Given the description of an element on the screen output the (x, y) to click on. 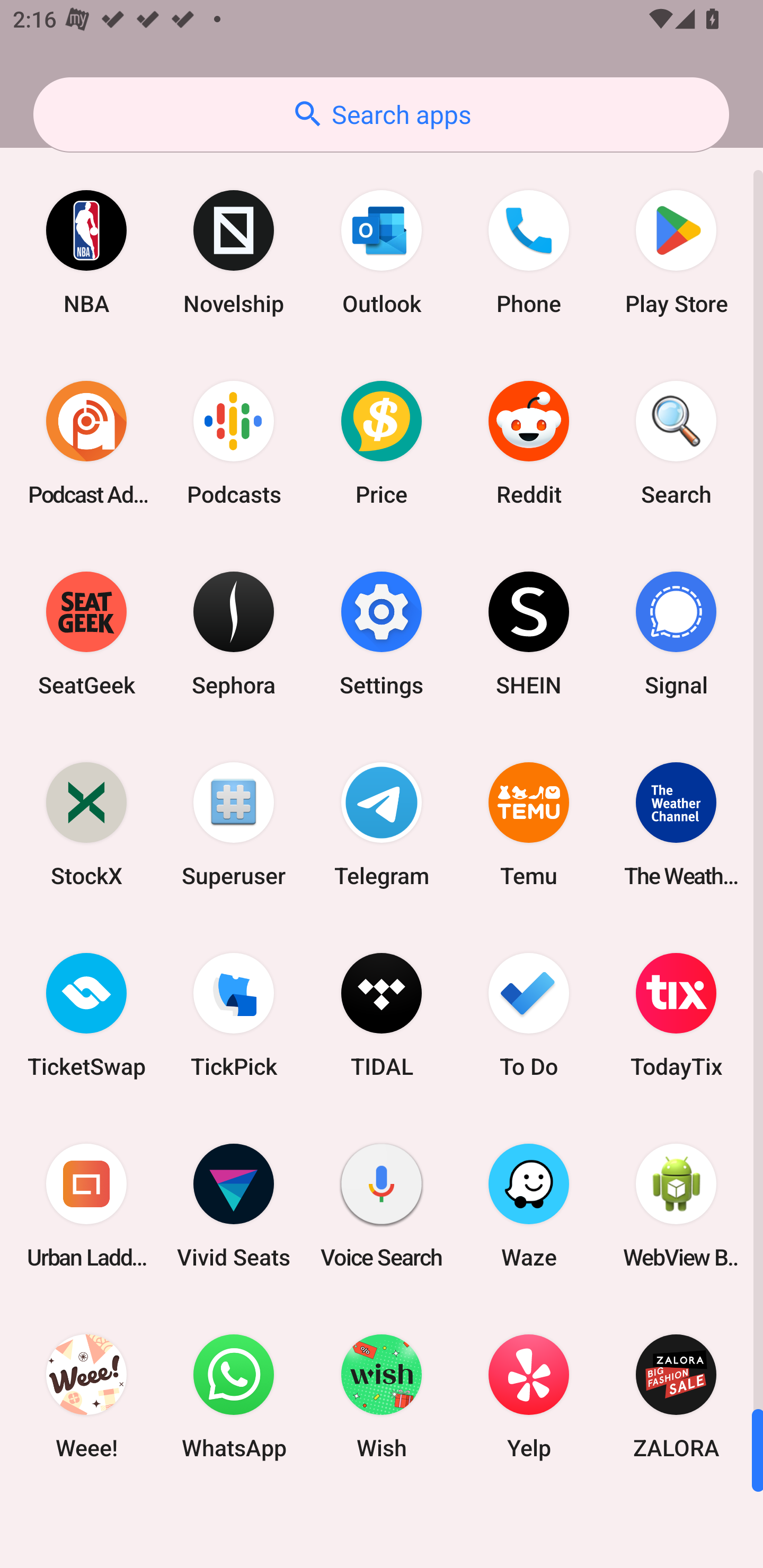
Signal (676, 633)
